Given the description of an element on the screen output the (x, y) to click on. 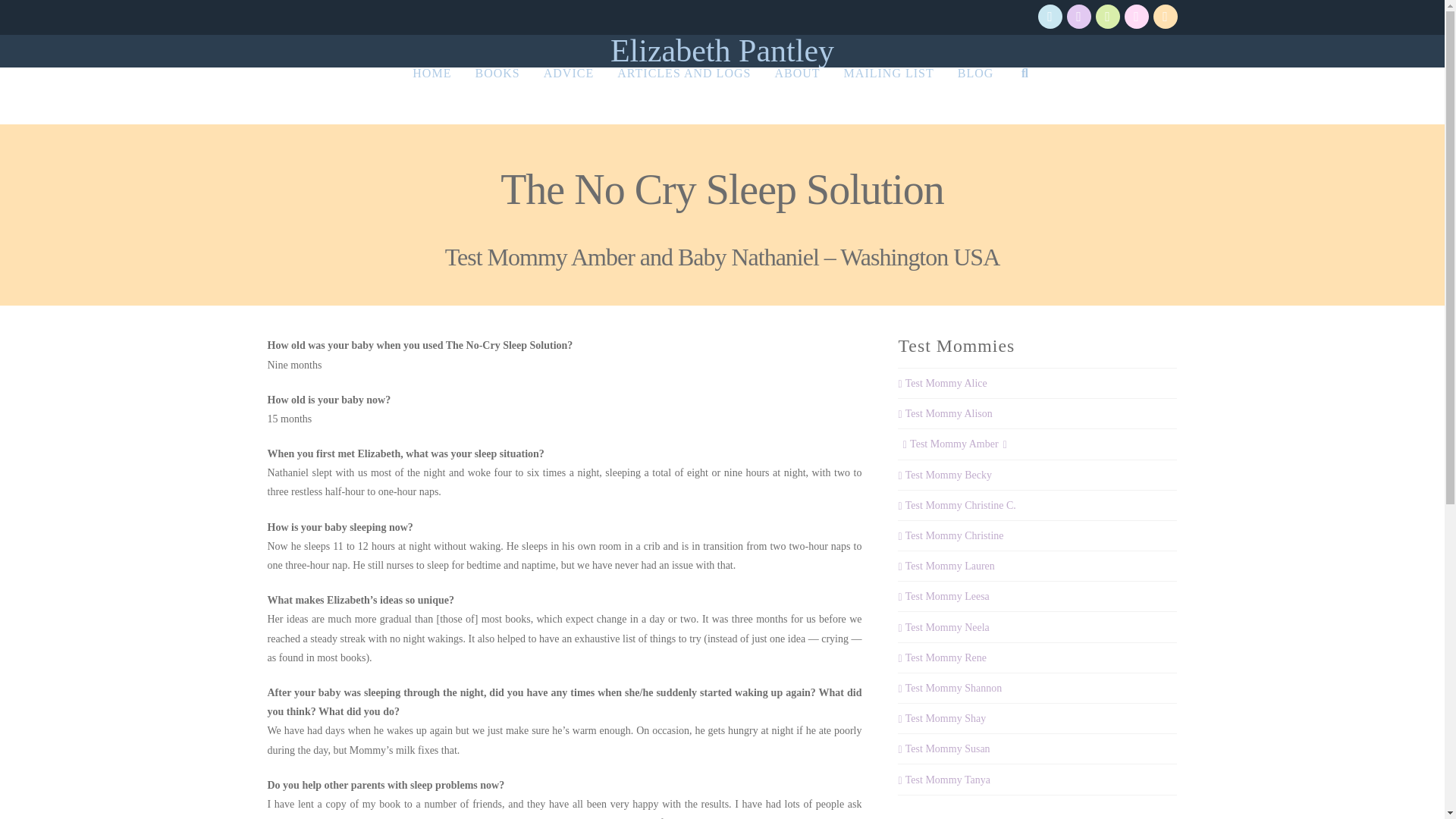
ARTICLES AND LOGS (683, 95)
Test Mommy Alison (944, 413)
MAILING LIST (887, 95)
RSS (1164, 16)
Test Mommy Tanya (944, 779)
Test Mommy Neela (943, 627)
Instagram (1106, 16)
Test Mommy Susan (944, 748)
Test Mommy Leesa (943, 596)
HOME (431, 95)
Test Mommy Alice (942, 383)
ADVICE (568, 95)
ABOUT (796, 95)
BLOG (975, 95)
Pinterest (1136, 16)
